Given the description of an element on the screen output the (x, y) to click on. 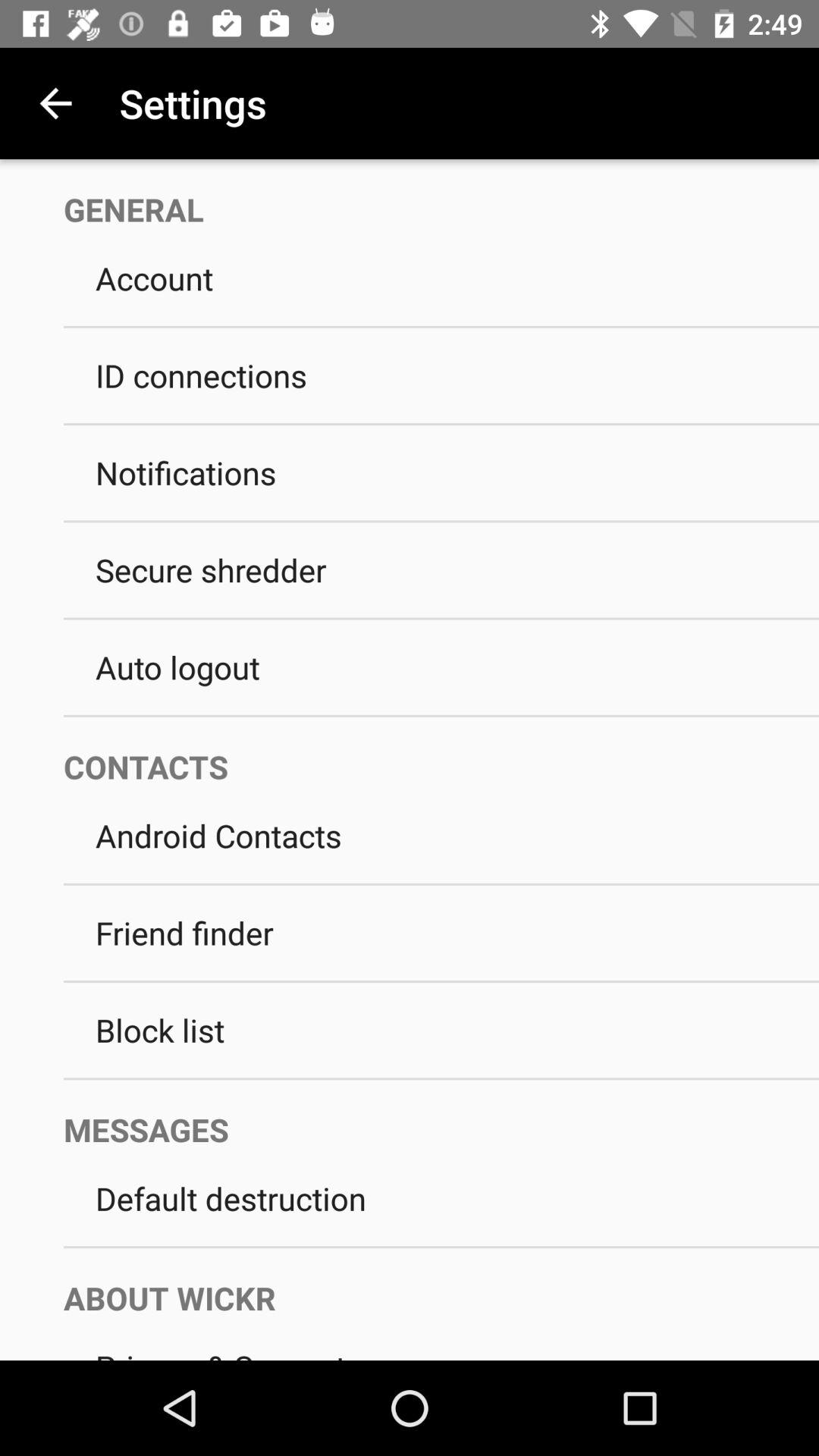
click item above block list icon (441, 981)
